Given the description of an element on the screen output the (x, y) to click on. 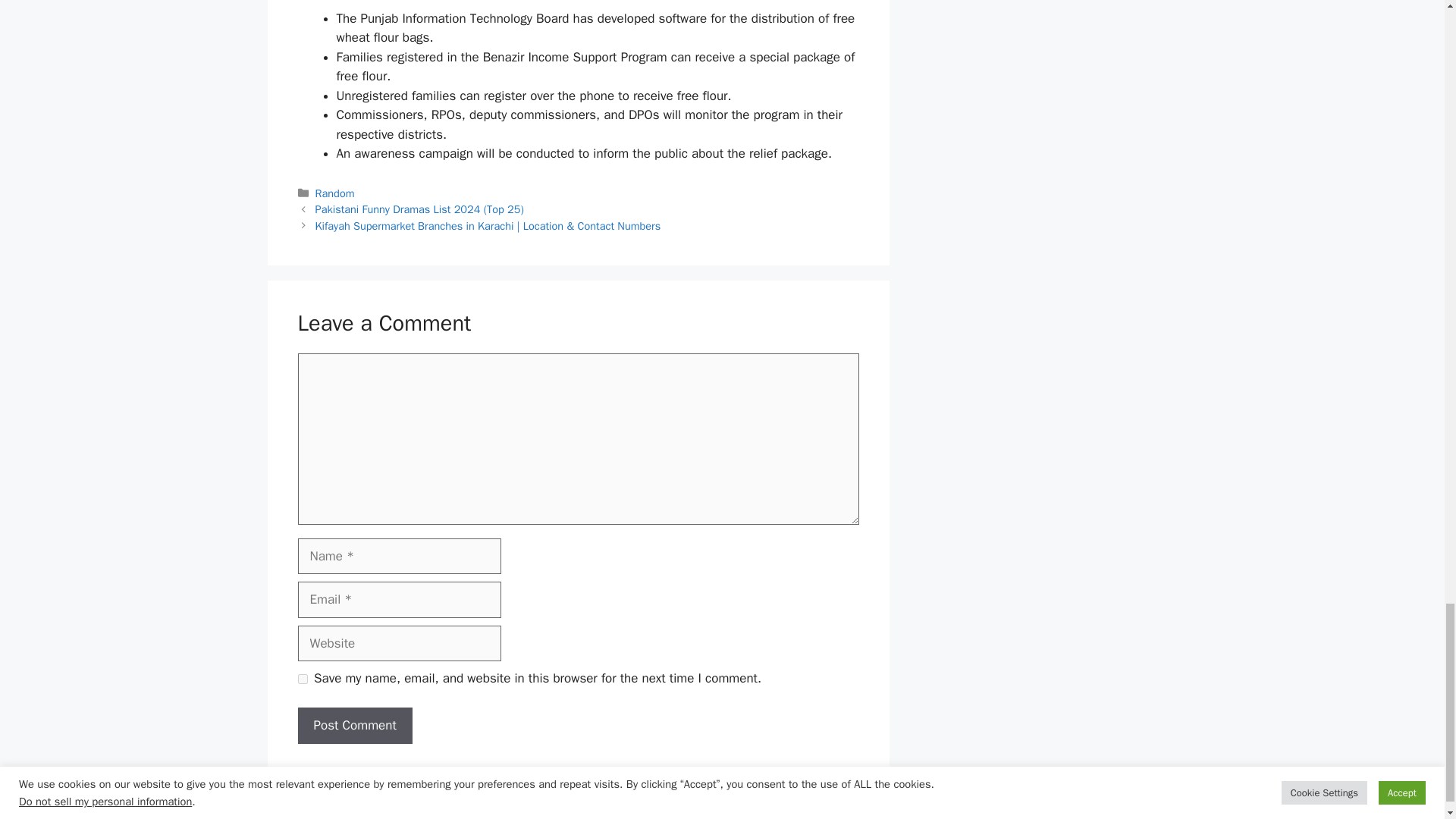
Disclaimer (937, 816)
GeneratePress (510, 816)
Random (335, 192)
About Us (792, 816)
Post Comment (354, 725)
Contact Us (1119, 816)
Post Comment (354, 725)
yes (302, 678)
Home (740, 816)
Privacy Policy (863, 816)
